Given the description of an element on the screen output the (x, y) to click on. 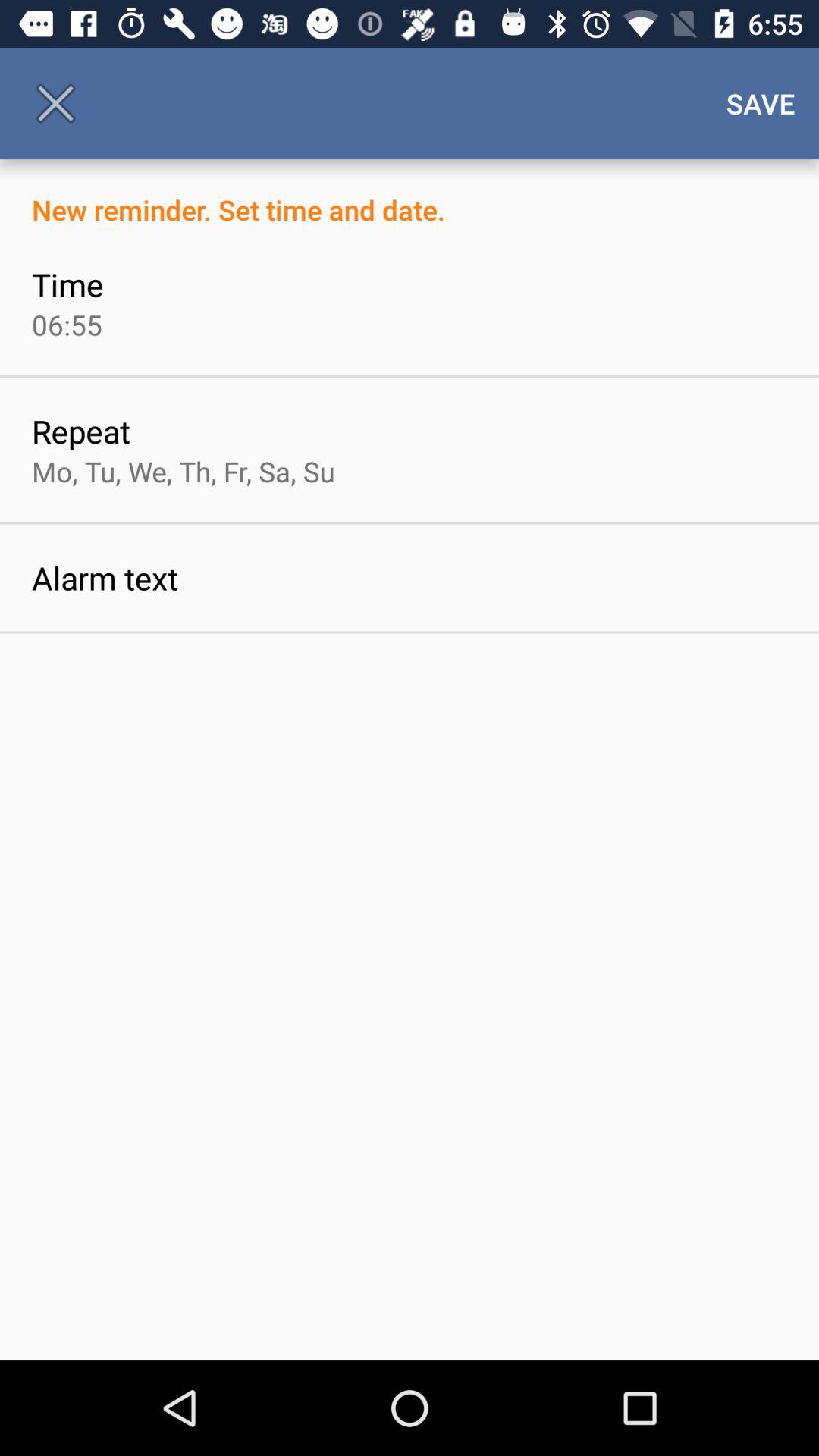
click icon above mo tu we (80, 430)
